Given the description of an element on the screen output the (x, y) to click on. 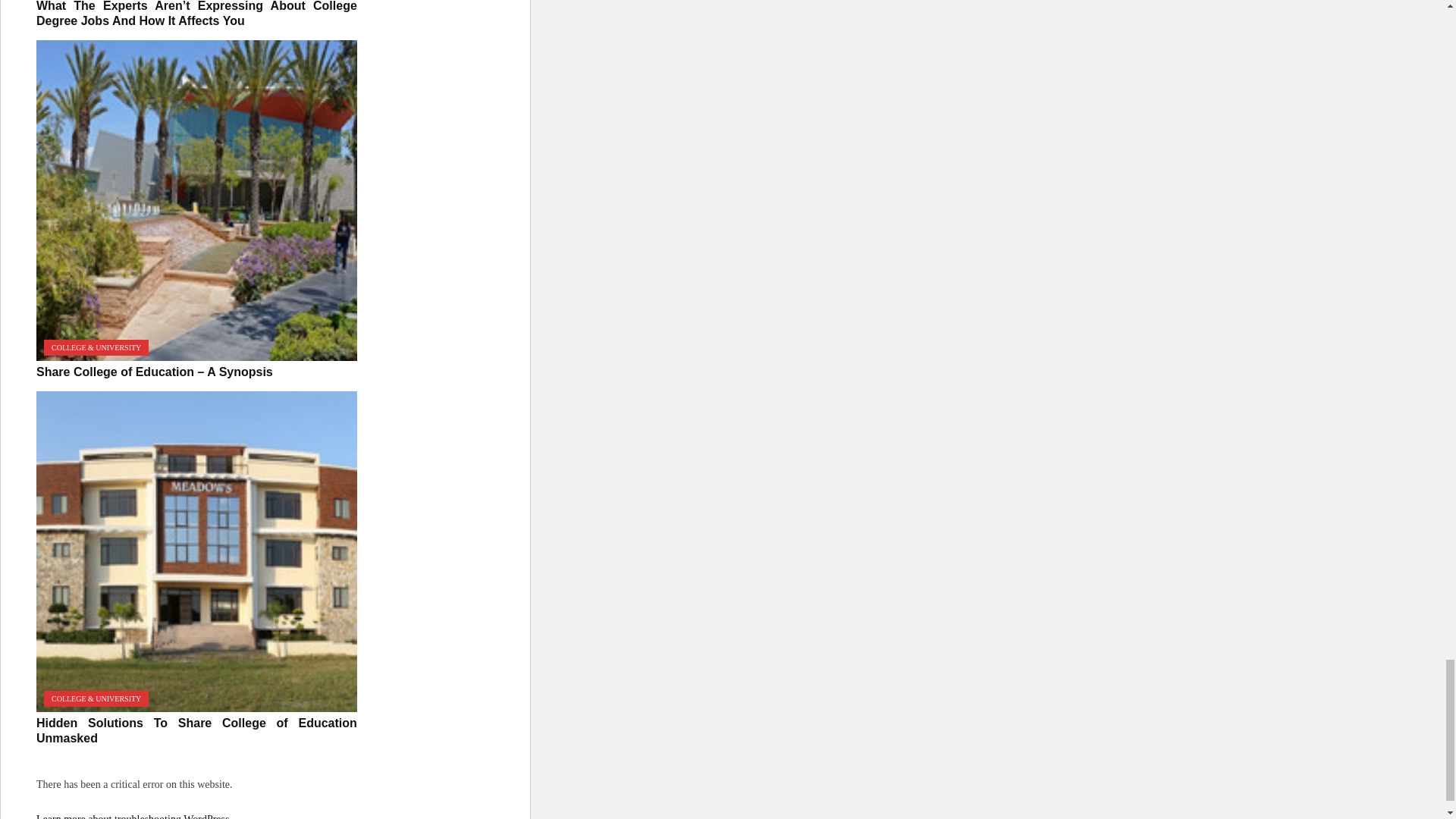
Hidden Solutions To Share College of Education Unmasked (196, 551)
